Given the description of an element on the screen output the (x, y) to click on. 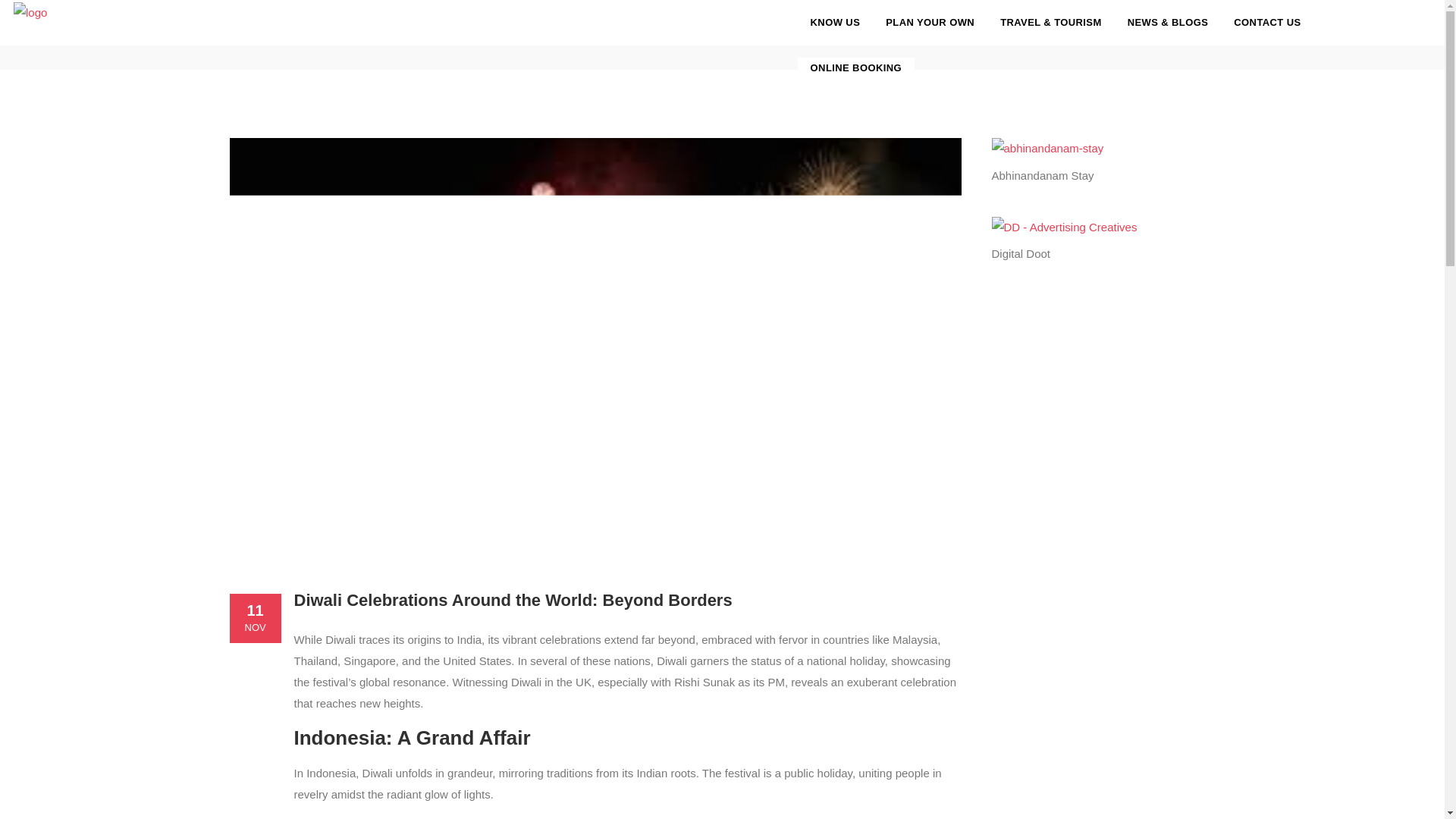
CONTACT US (1267, 22)
Diwali Celebrations Around the World: Beyond Borders (513, 599)
PLAN YOUR OWN (929, 22)
ONLINE BOOKING (855, 67)
KNOW US (835, 22)
Contact Us (1267, 22)
